Given the description of an element on the screen output the (x, y) to click on. 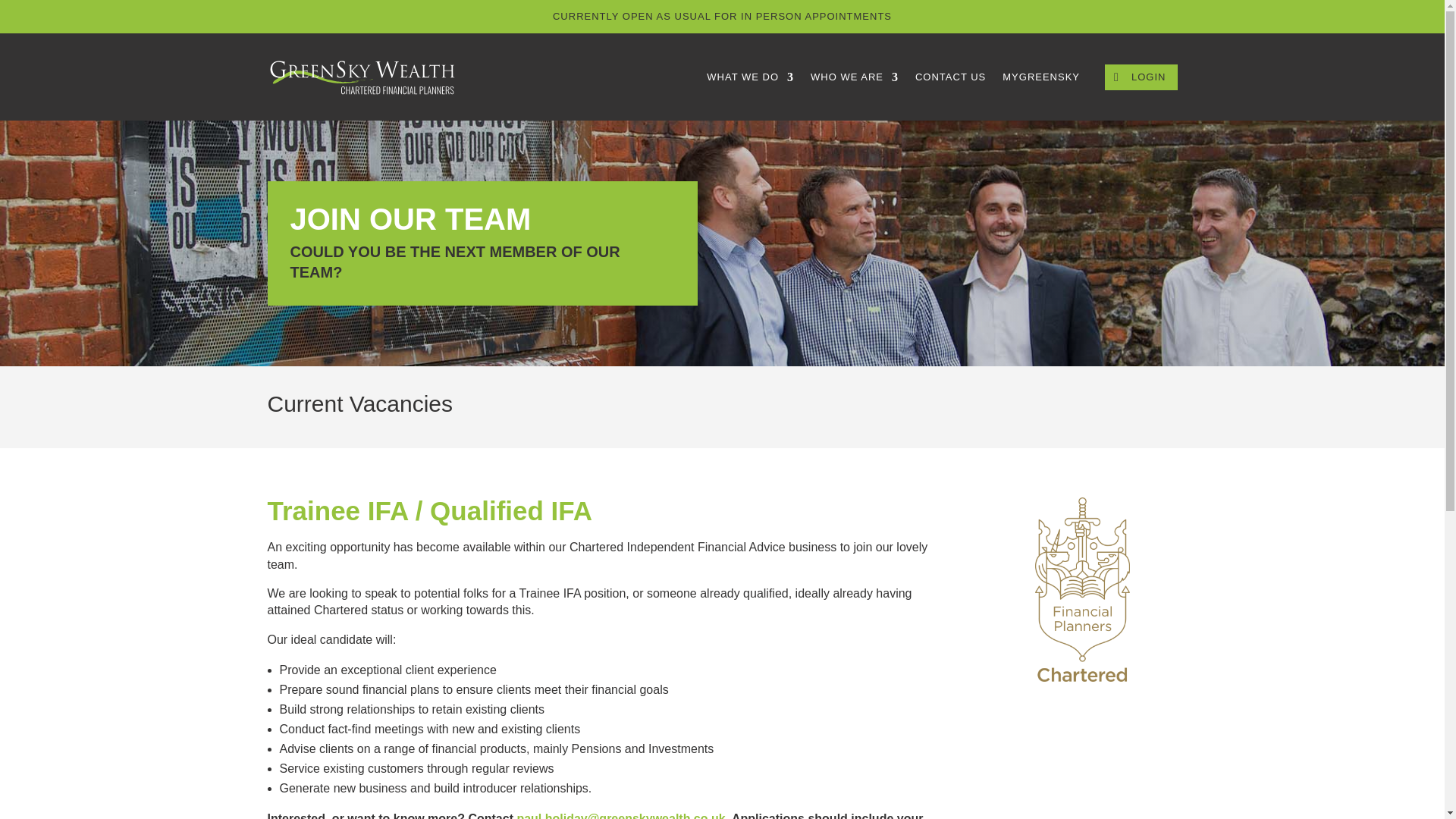
WHO WE ARE (854, 77)
WHAT WE DO (749, 77)
LOGIN (1140, 77)
MYGREENSKY (1041, 77)
